Given the description of an element on the screen output the (x, y) to click on. 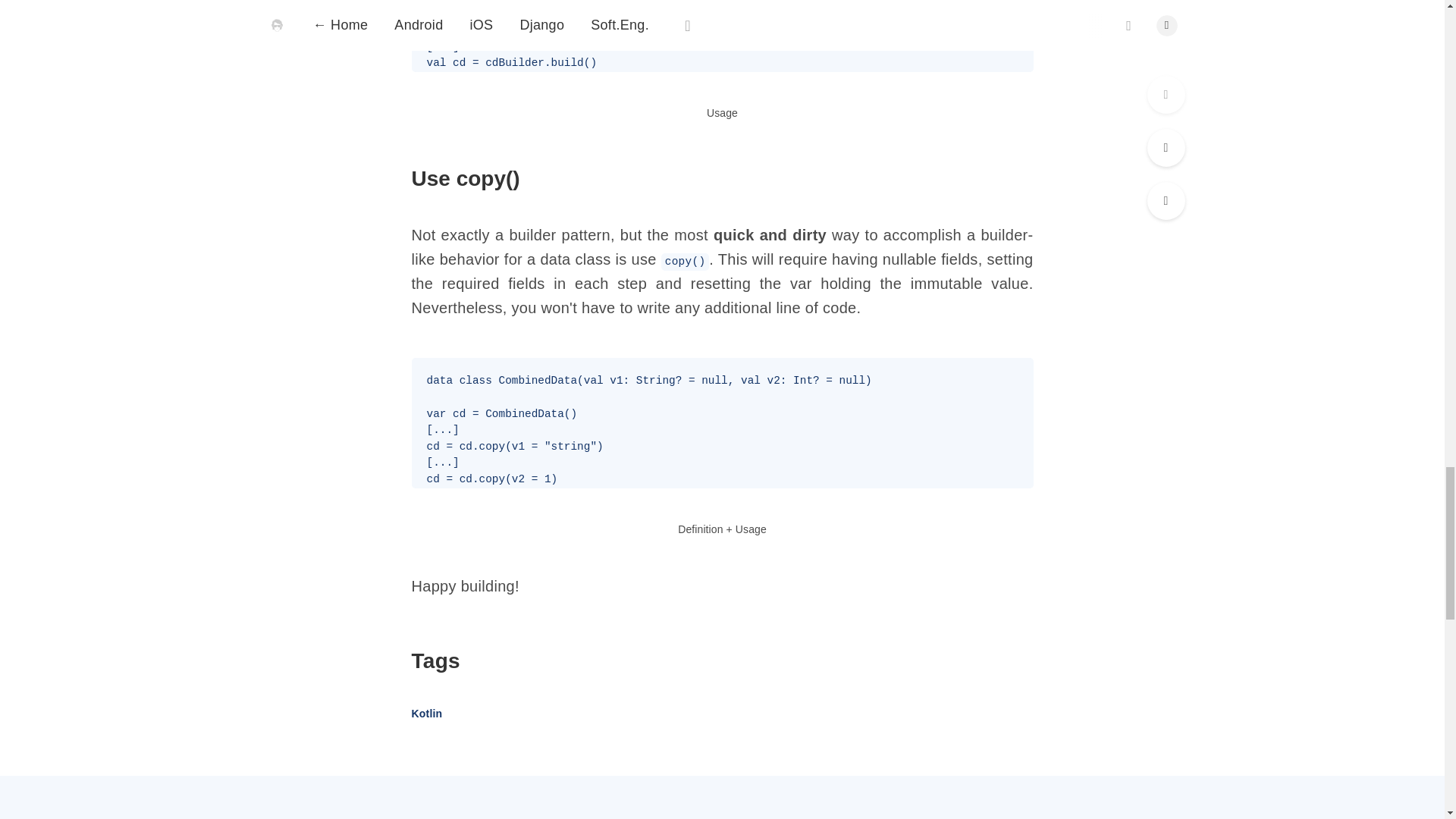
Kotlin (426, 713)
Kotlin (426, 713)
